Given the description of an element on the screen output the (x, y) to click on. 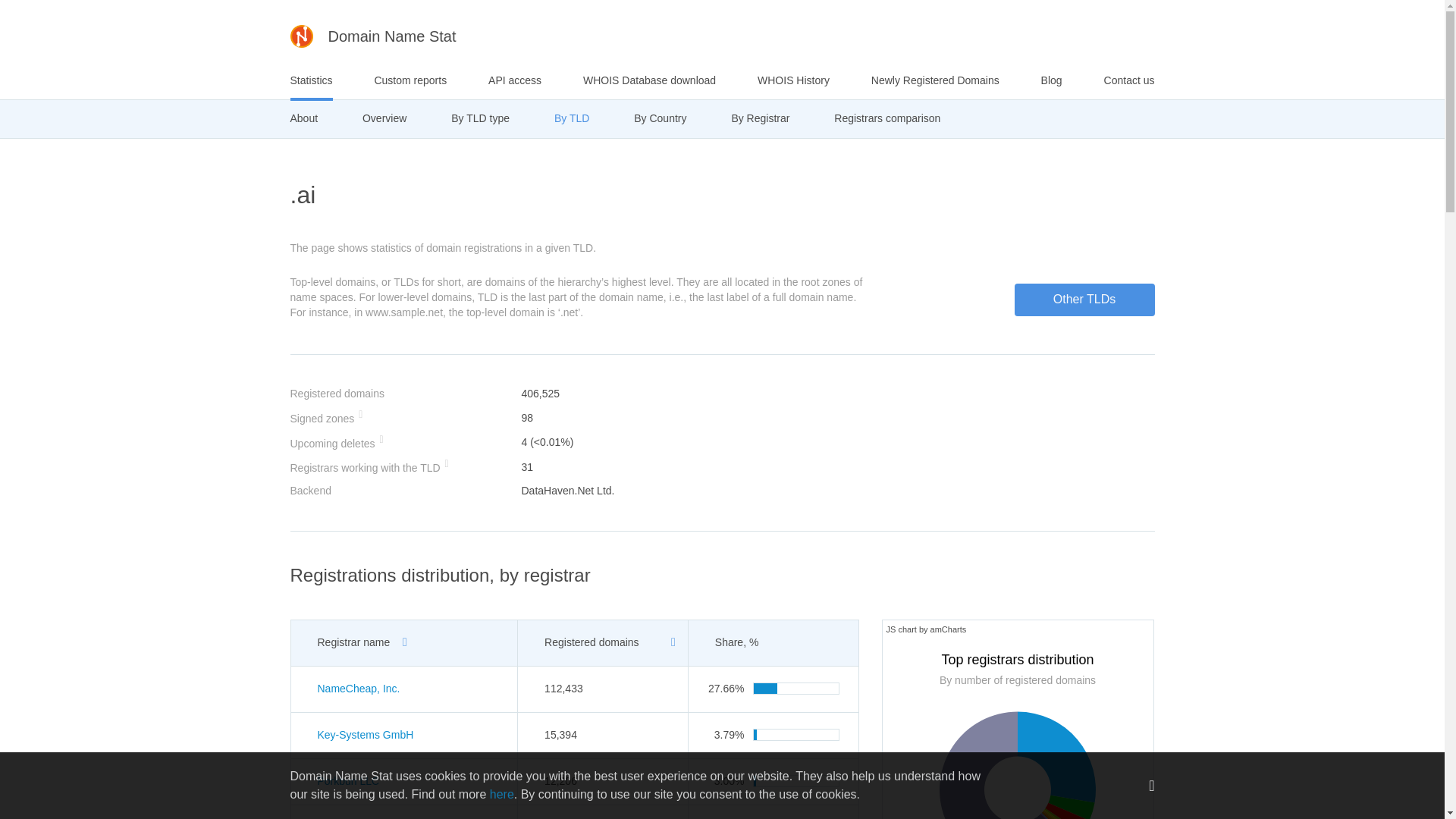
Key-Systems GmbH (365, 734)
Domain Name Stat (372, 36)
Newly Registered Domains (934, 80)
By Registrar (759, 118)
By TLD (571, 118)
Blog (1051, 80)
Porkbun LLC (347, 780)
Contact us (1128, 80)
Registrars comparison (887, 118)
Other TLDs (1084, 299)
About (303, 118)
WHOIS Database download (649, 80)
By TLD type (480, 118)
JavaScript charts (925, 630)
By Country (659, 118)
